Given the description of an element on the screen output the (x, y) to click on. 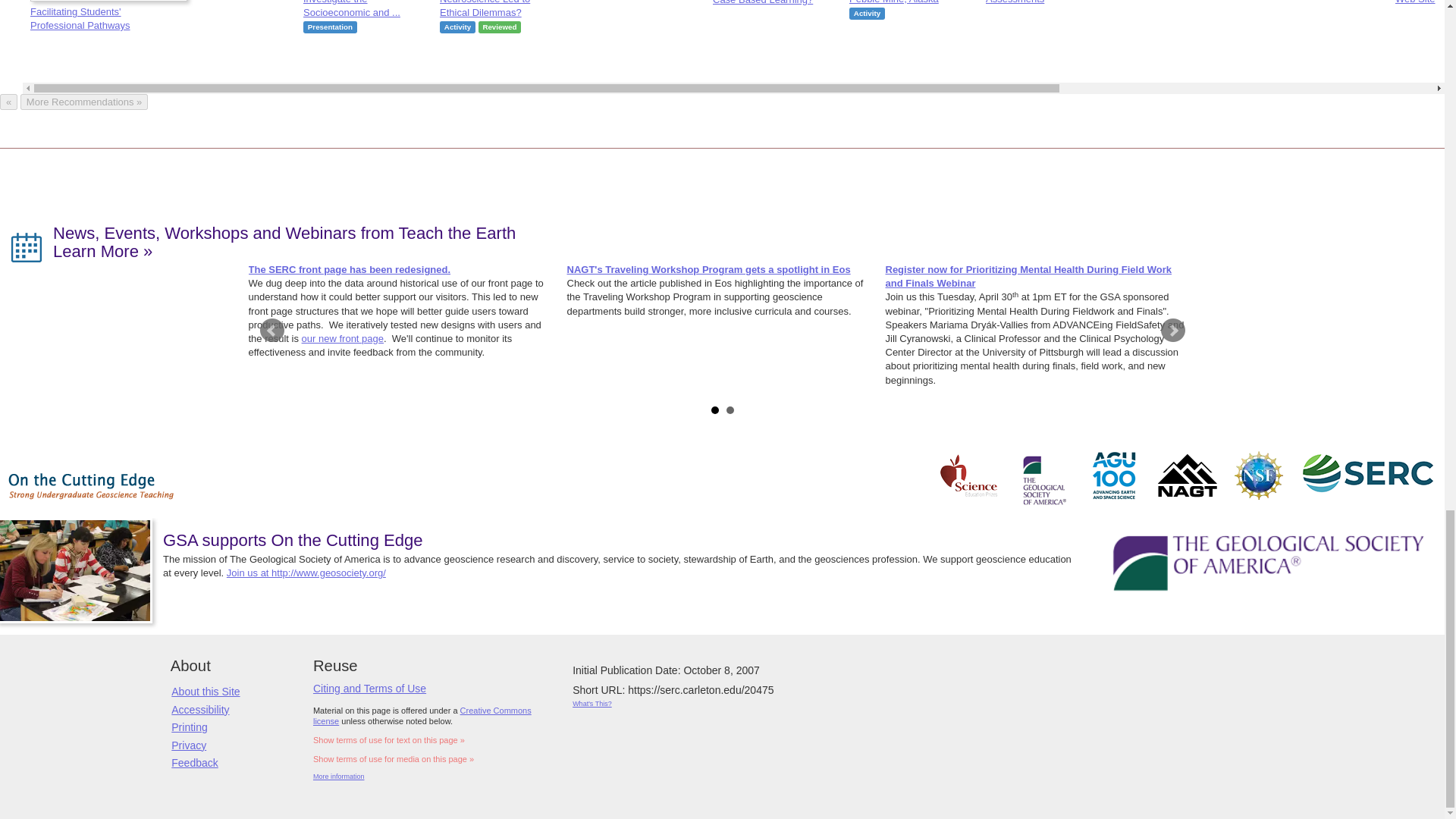
Learning Goals and Assessments (1063, 2)
Facilitating Students' Professional Pathways (108, 15)
Using Case Studies to Investigate the Socioeconomic and ... (381, 9)
Has Our Knowledge of Neuroscience Led to Ethical Dilemmas? (517, 9)
What is Investigative Case Based Learning? (791, 2)
Geoethics Case Study: Pebble Mine, Alaska (927, 2)
